Given the description of an element on the screen output the (x, y) to click on. 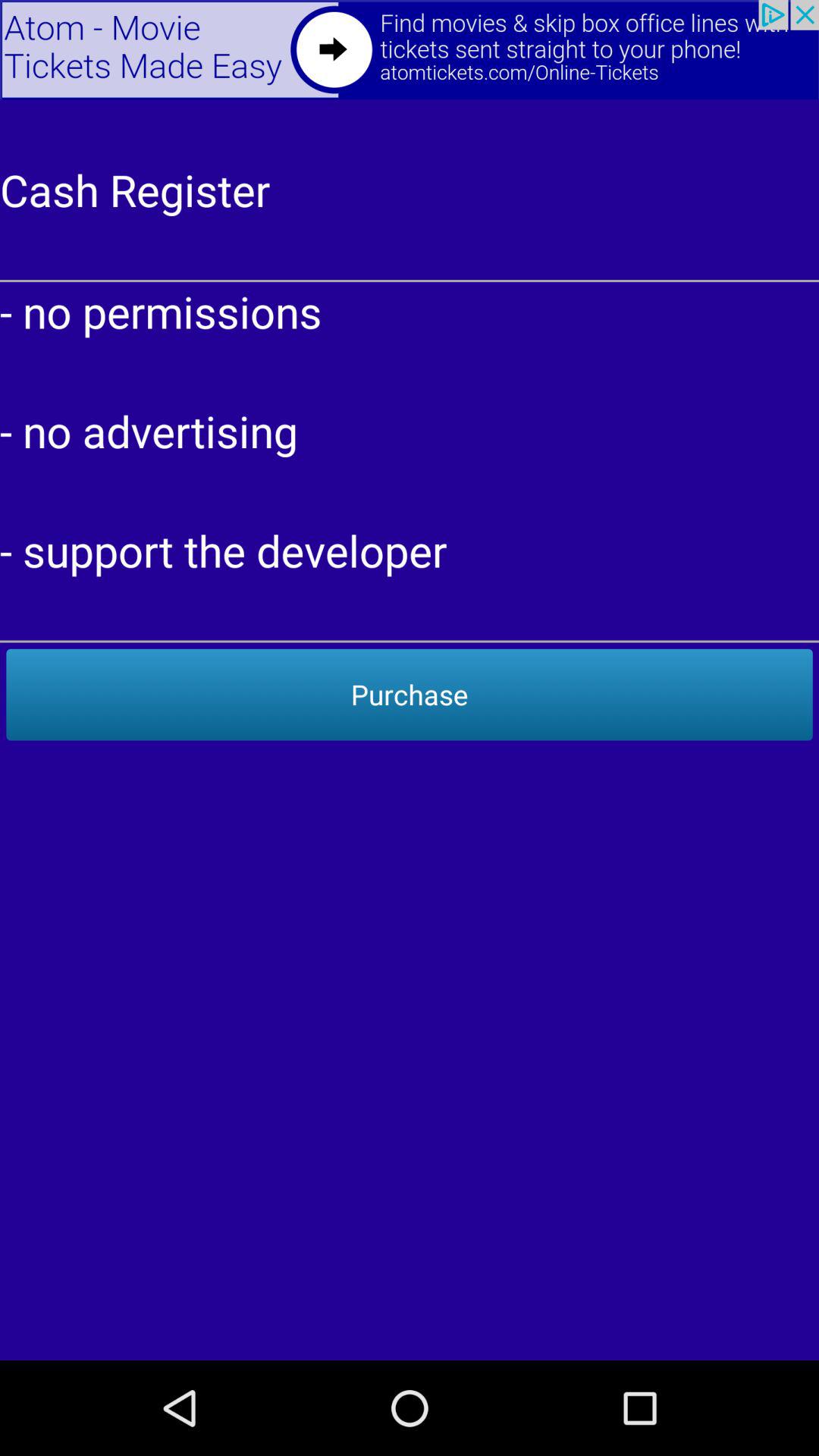
go to back (409, 49)
